Given the description of an element on the screen output the (x, y) to click on. 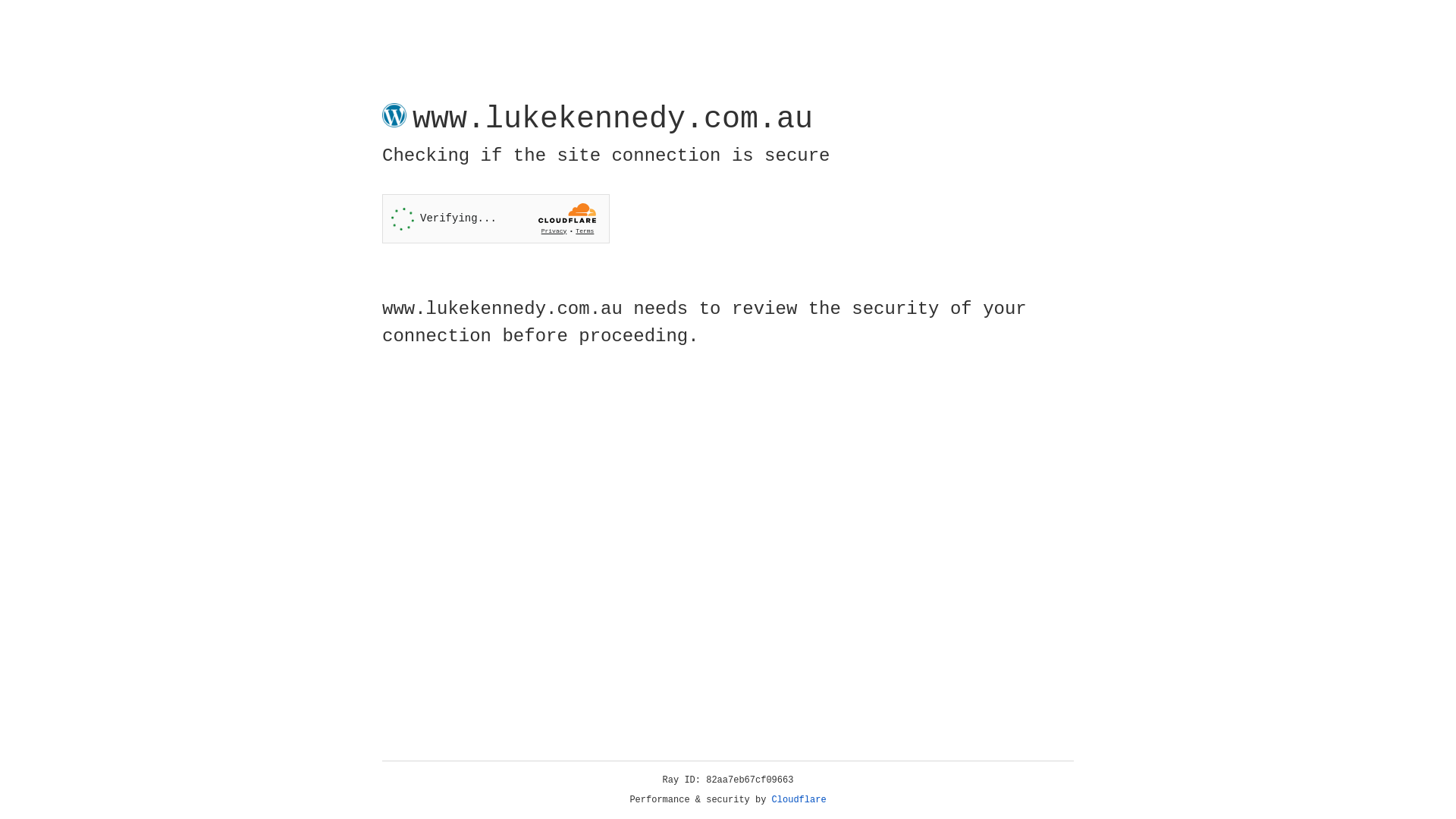
Widget containing a Cloudflare security challenge Element type: hover (495, 218)
Cloudflare Element type: text (798, 799)
